Given the description of an element on the screen output the (x, y) to click on. 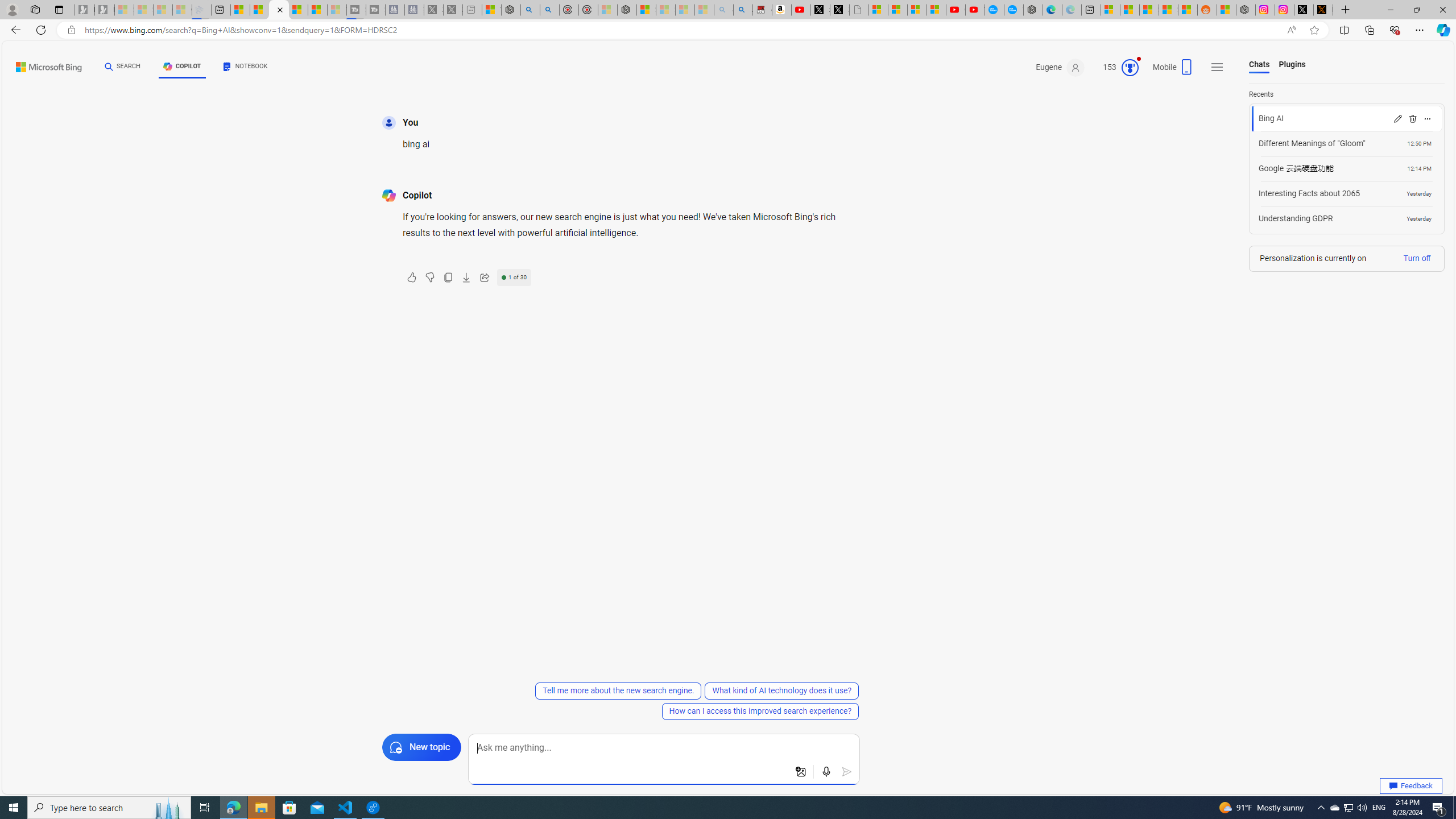
Nordace - Nordace has arrived Hong Kong (1033, 9)
Submit (847, 771)
help.x.com | 524: A timeout occurred (1323, 9)
poe ++ standard - Search (549, 9)
The most popular Google 'how to' searches (1012, 9)
Newsletter Sign Up - Sleeping (104, 9)
NOTEBOOK (245, 68)
Tell me more about the new search engine. (618, 690)
Untitled (858, 9)
